Given the description of an element on the screen output the (x, y) to click on. 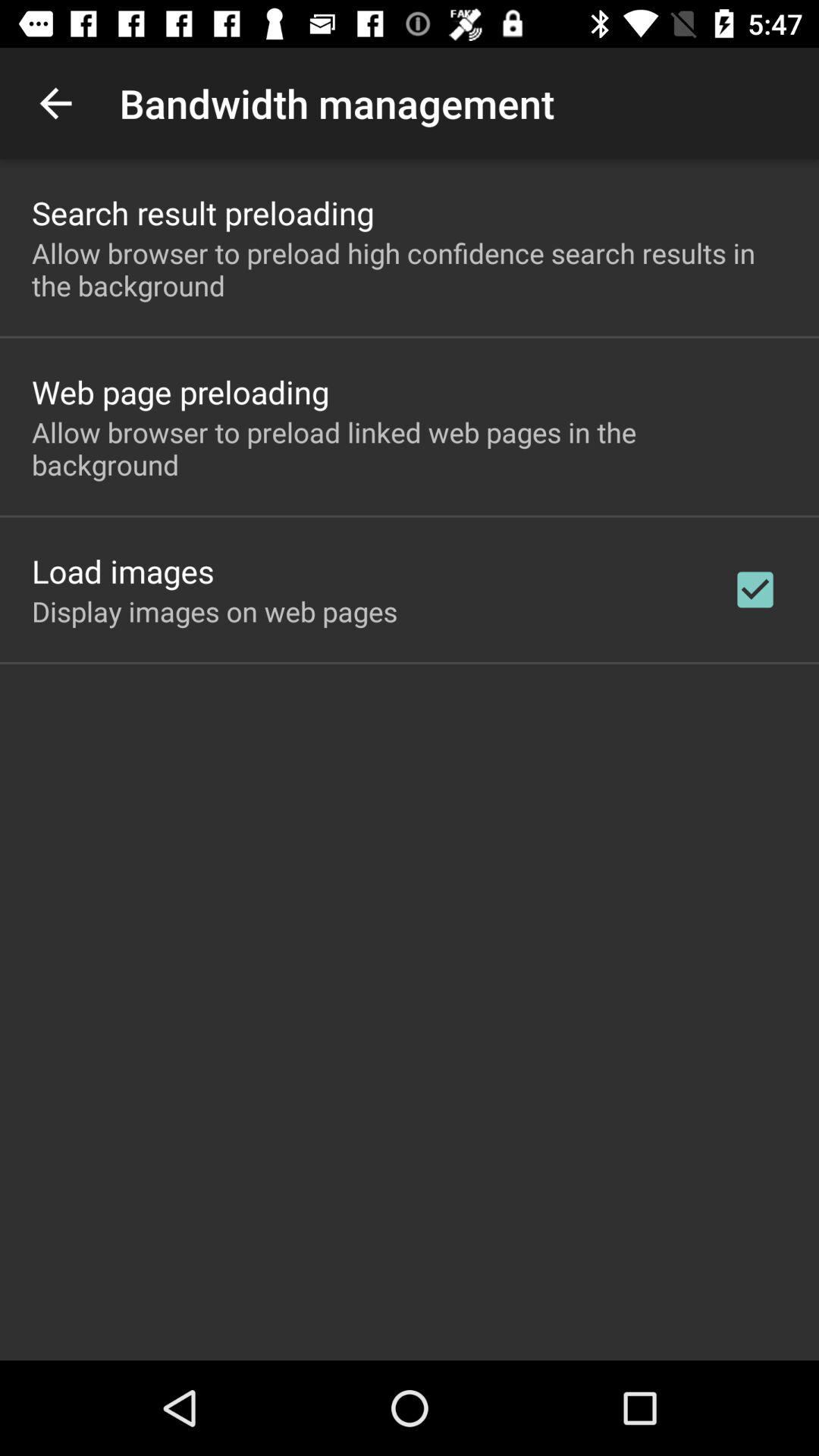
turn off item to the right of the display images on (755, 589)
